Given the description of an element on the screen output the (x, y) to click on. 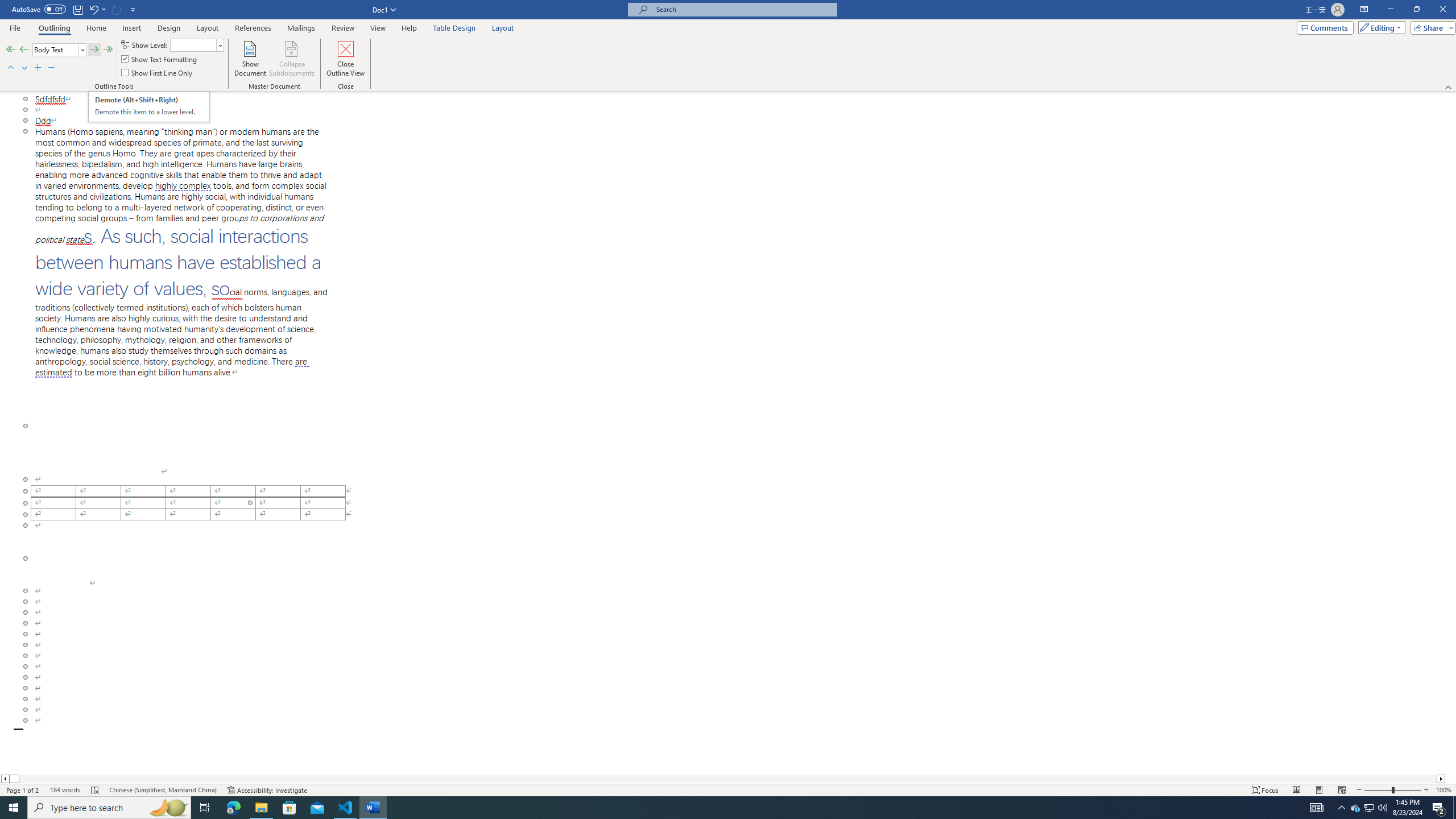
Demote to Body Text (108, 49)
Page Number Page 1 of 2 (22, 790)
Move Down (148, 106)
Word Count 184 words (23, 67)
Outlining (64, 790)
